Given the description of an element on the screen output the (x, y) to click on. 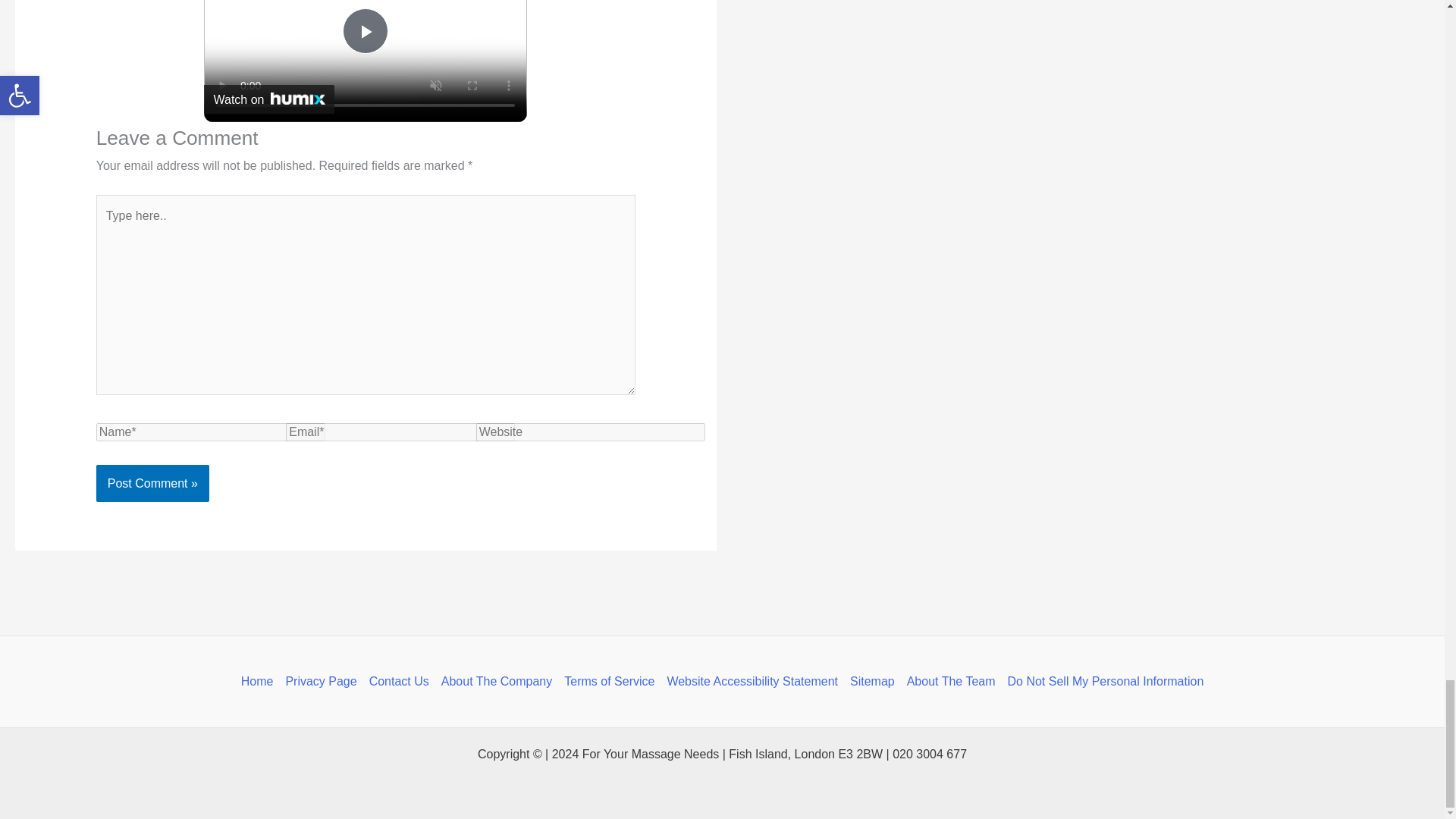
Play Video (365, 31)
Play Video (365, 31)
